Given the description of an element on the screen output the (x, y) to click on. 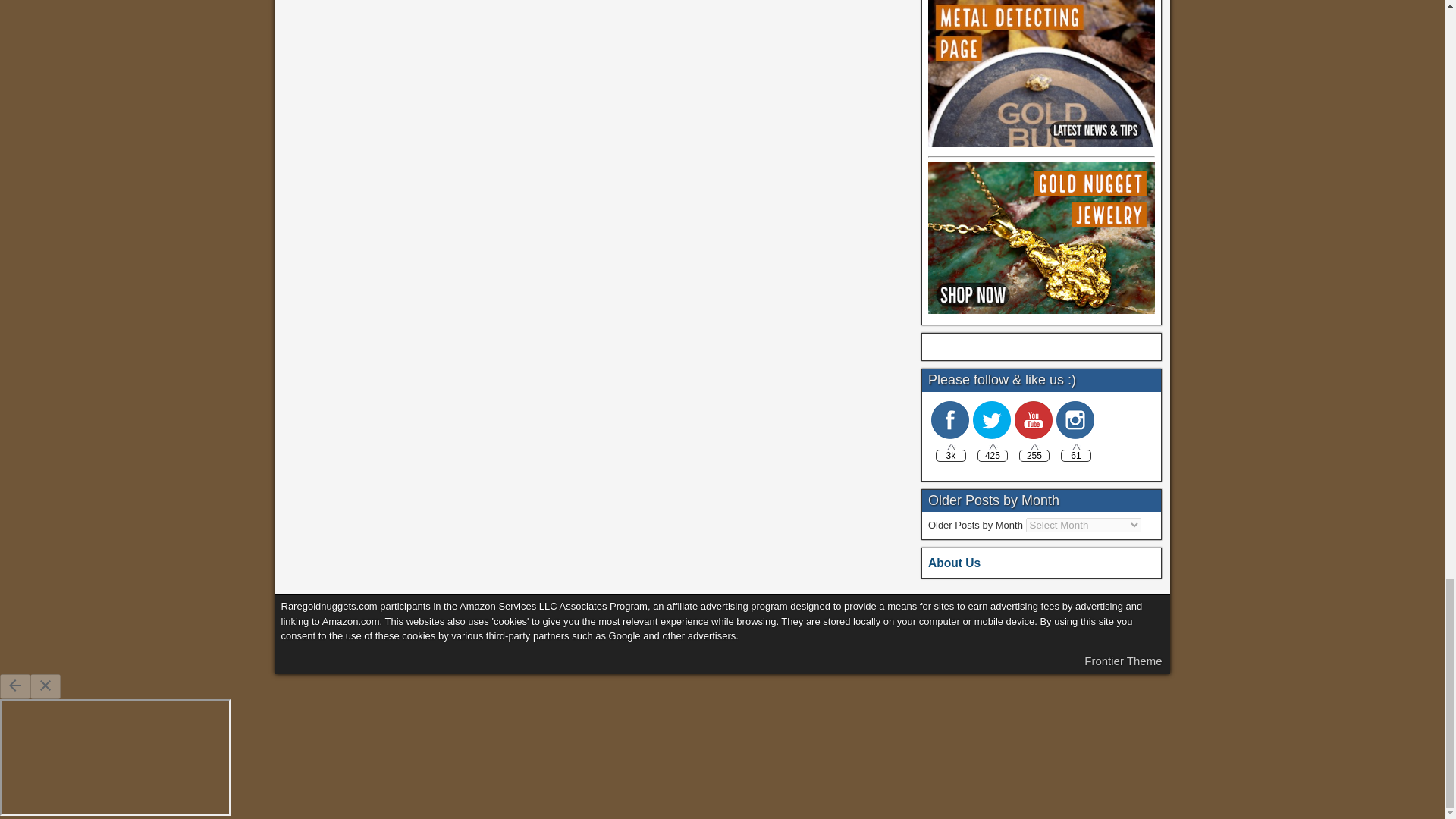
YOUTUBE (1033, 419)
FACEBOOK (950, 419)
INSTAGRAM (1075, 419)
TWITTER (991, 419)
